Given the description of an element on the screen output the (x, y) to click on. 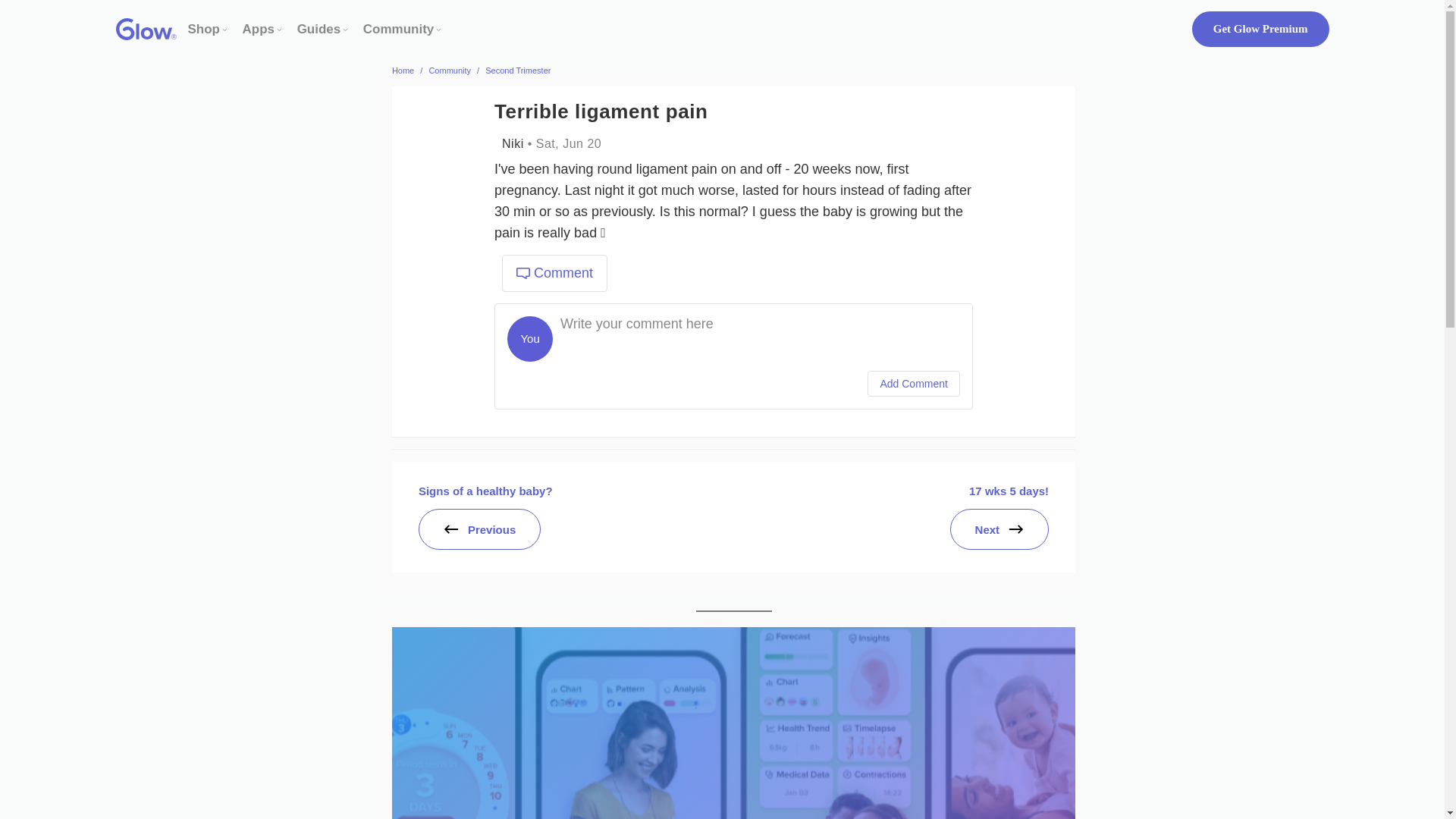
Glow Shop (204, 28)
Shop (204, 28)
Community (397, 28)
Apps (259, 28)
Glow Community (397, 28)
Guides (318, 28)
